Given the description of an element on the screen output the (x, y) to click on. 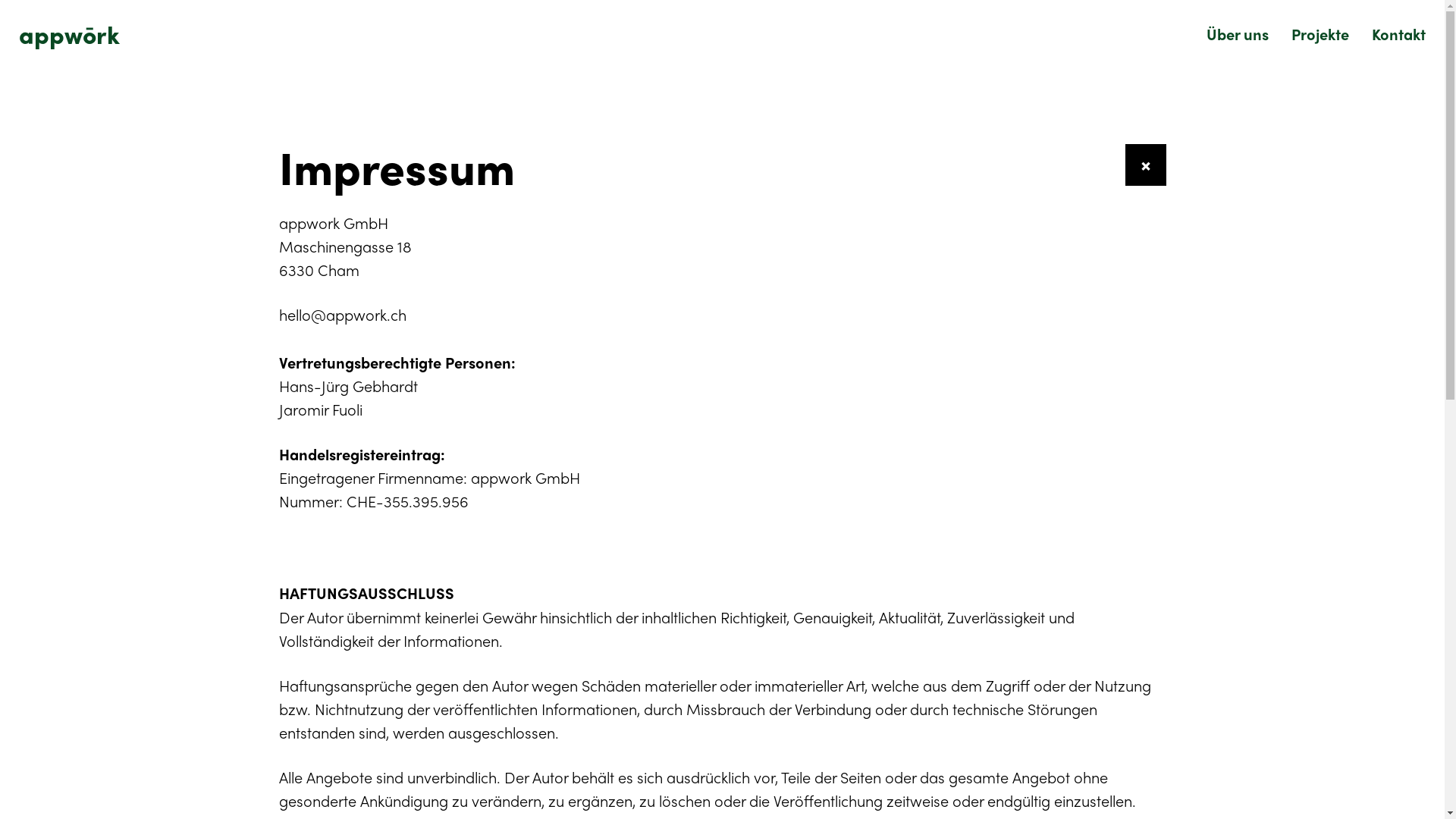
Projekte Element type: text (1320, 33)
Kontakt Element type: text (1392, 33)
